Given the description of an element on the screen output the (x, y) to click on. 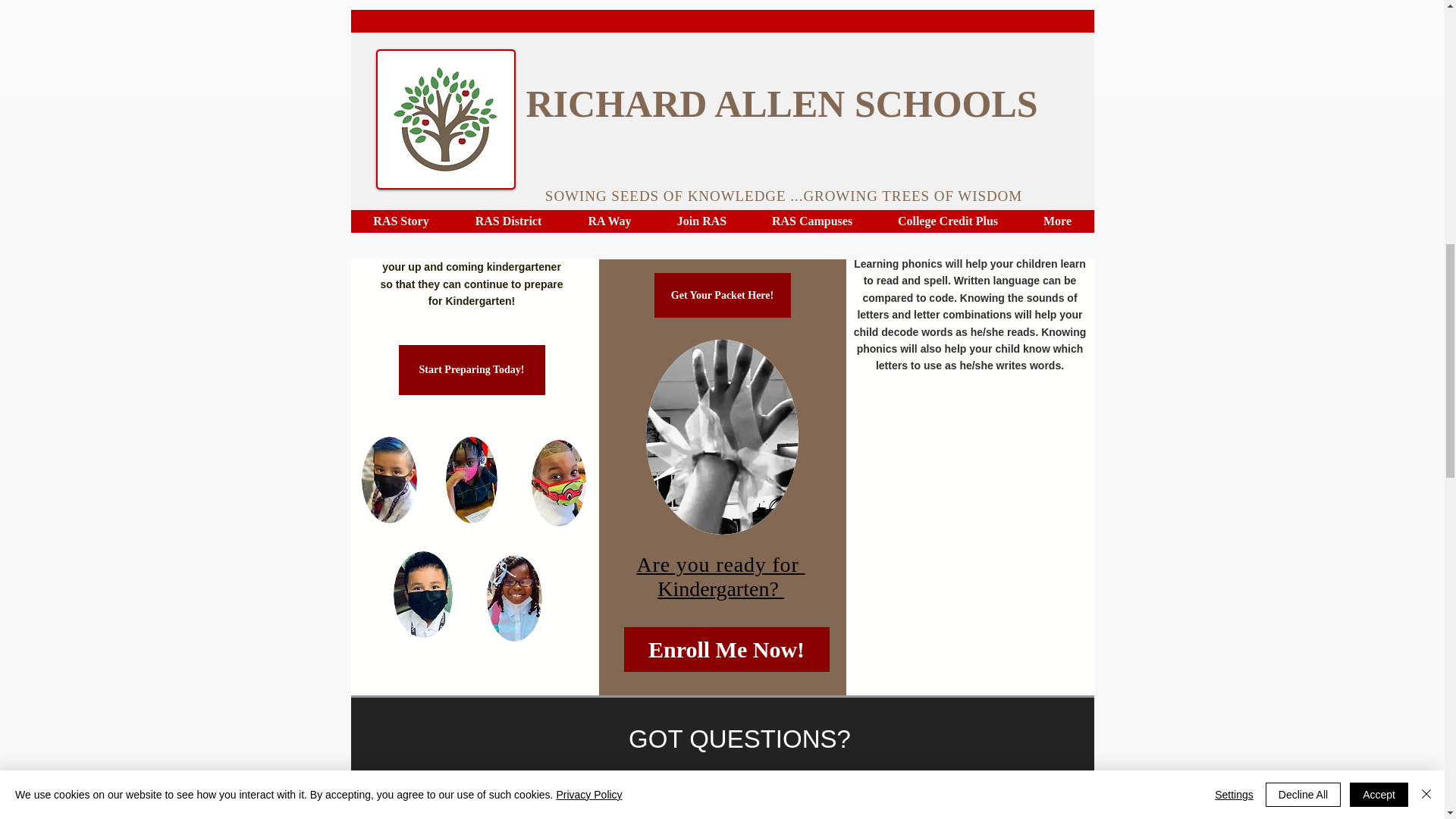
Register for RA Academy Kindergarten (968, 43)
Meet Principal Chung (969, 3)
Register for RA Preparatory Kindergarten (474, 44)
Get Your Packet Here! (721, 294)
Start Preparing Today! (471, 369)
Enroll Me Now! (725, 649)
Get Your Academy K-6 Parent Guide Now! (720, 29)
Meet Principal McDaniel (477, 3)
